Given the description of an element on the screen output the (x, y) to click on. 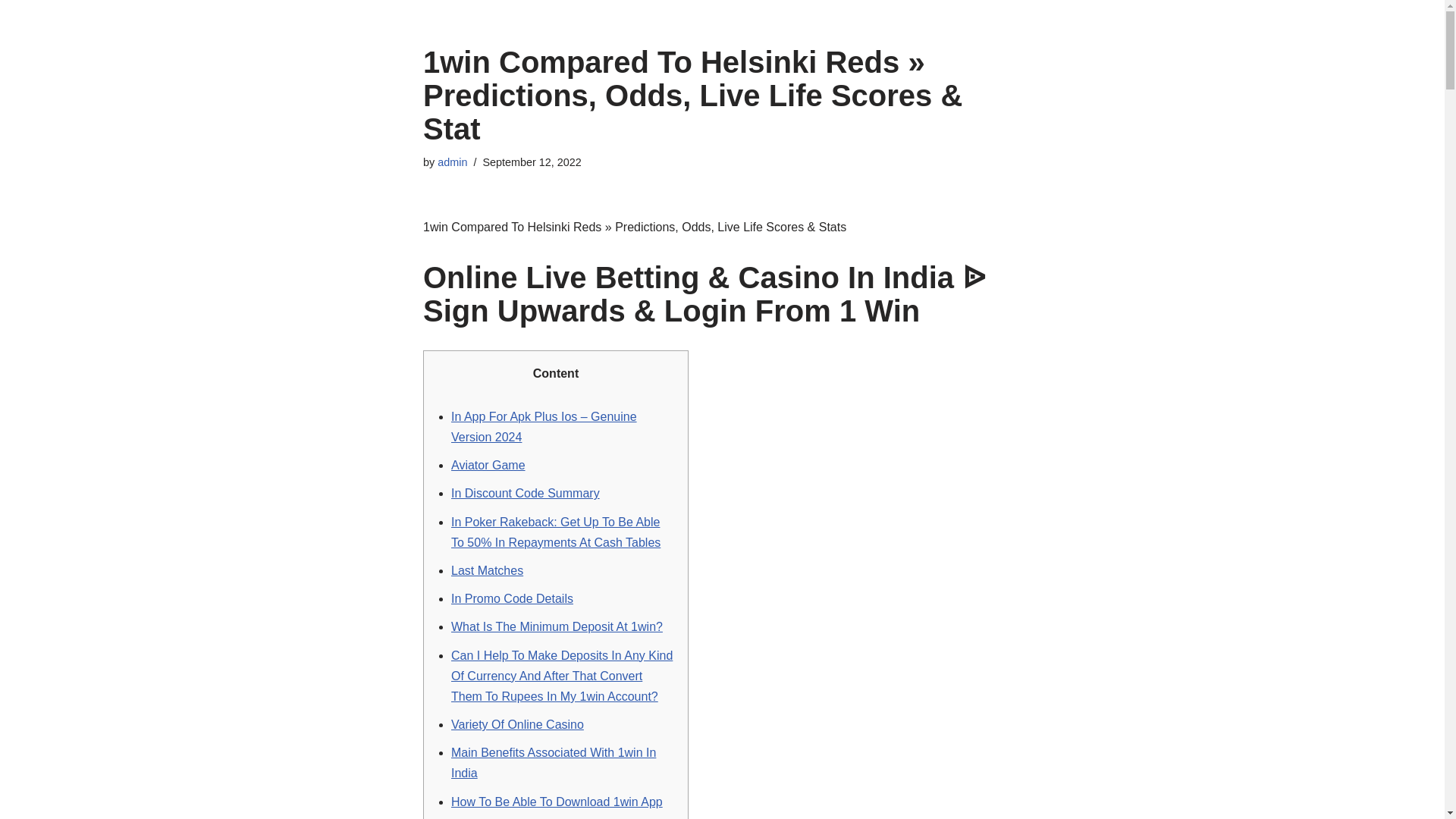
Variety Of Online Casino (517, 724)
What Is The Minimum Deposit At 1win? (556, 626)
In Discount Code Summary (525, 492)
Posts by admin (452, 162)
Skip to content (11, 31)
In Promo Code Details (512, 598)
Main Benefits Associated With 1win In India (553, 762)
Last Matches (486, 570)
How To Be Able To Download 1win App (556, 801)
